Given the description of an element on the screen output the (x, y) to click on. 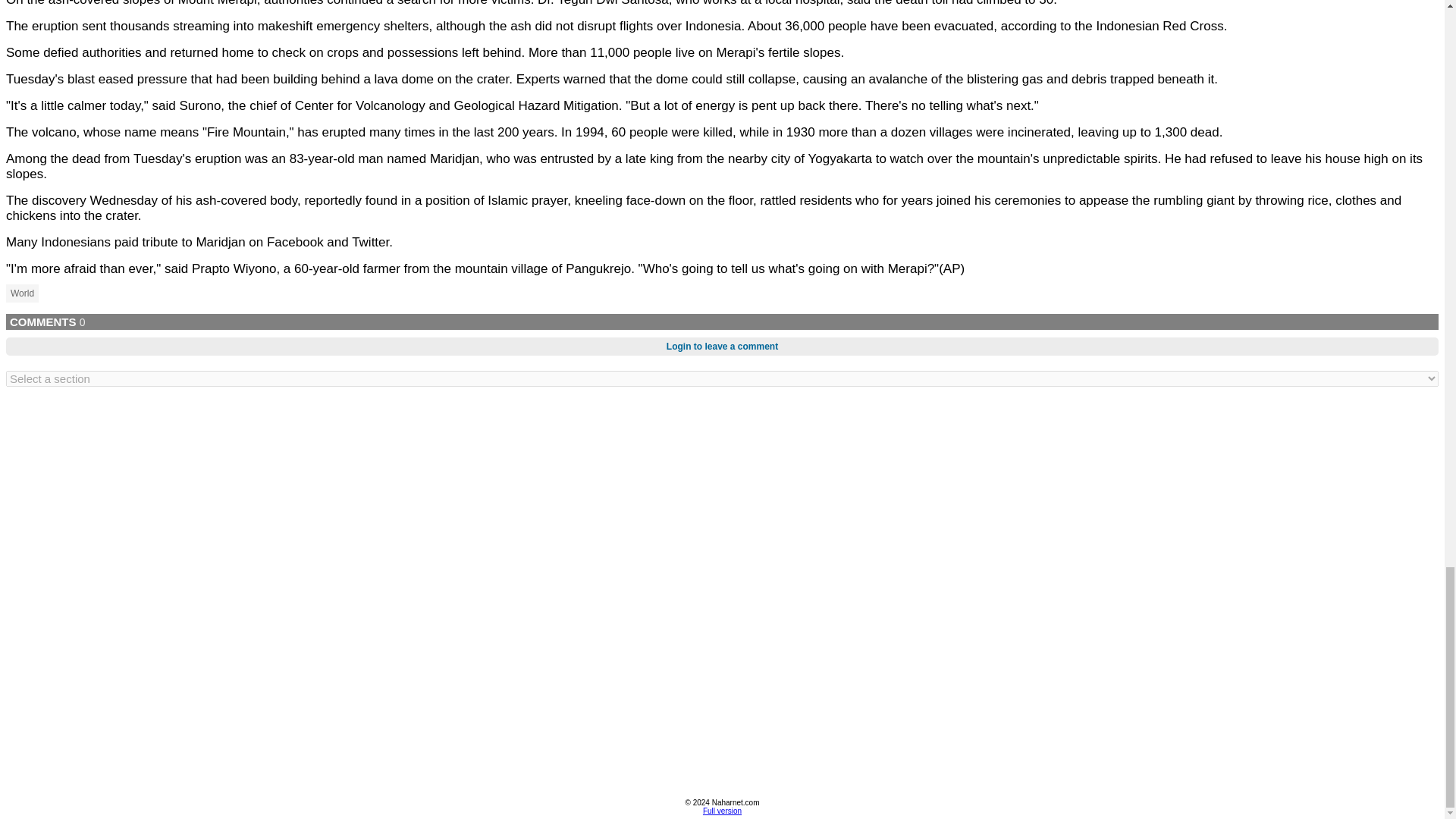
World (22, 293)
Full version (722, 810)
Login to leave a comment (721, 346)
